Given the description of an element on the screen output the (x, y) to click on. 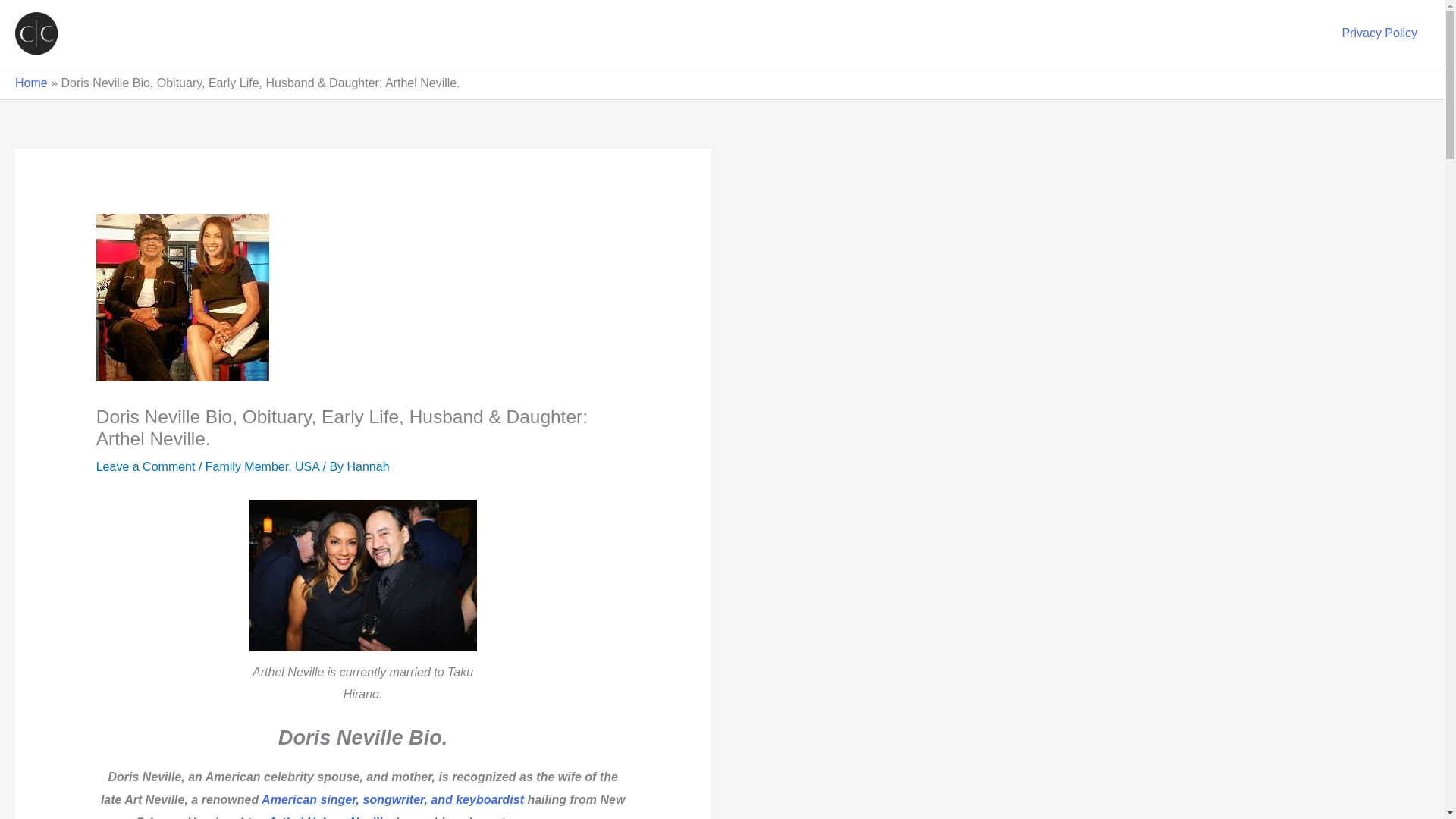
Home (31, 82)
Family Member (246, 466)
Hannah (368, 466)
View all posts by Hannah (368, 466)
American singer, songwriter, and keyboardist (393, 799)
Privacy Policy (1379, 32)
Arthel Helena Neville, (330, 817)
Leave a Comment (145, 466)
USA (306, 466)
